Given the description of an element on the screen output the (x, y) to click on. 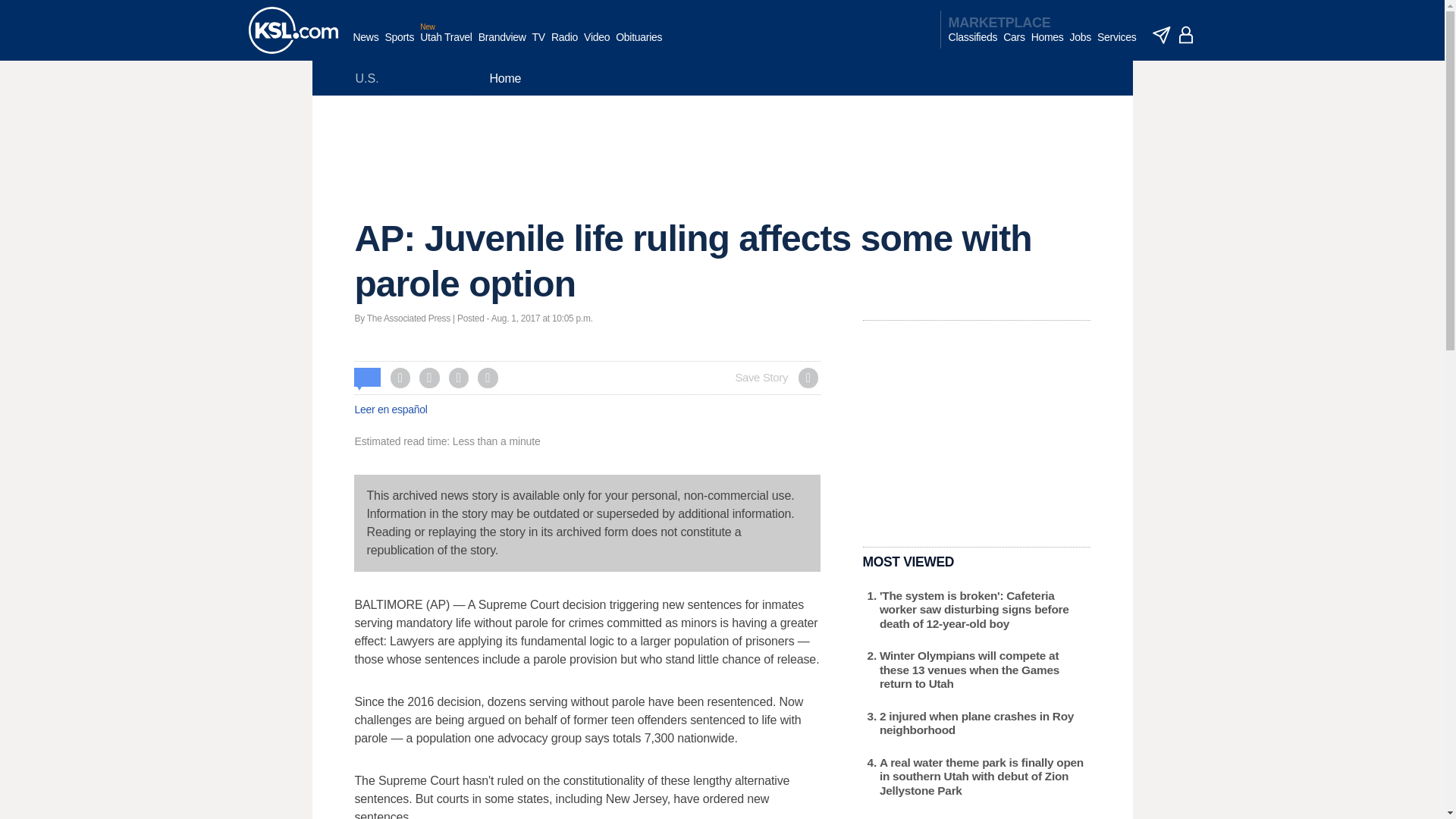
Brandview (502, 45)
News (365, 45)
account - logged out (1185, 34)
Sports (398, 45)
Utah Travel (445, 45)
KSL homepage (292, 30)
TV (538, 45)
KSL homepage (292, 29)
